Given the description of an element on the screen output the (x, y) to click on. 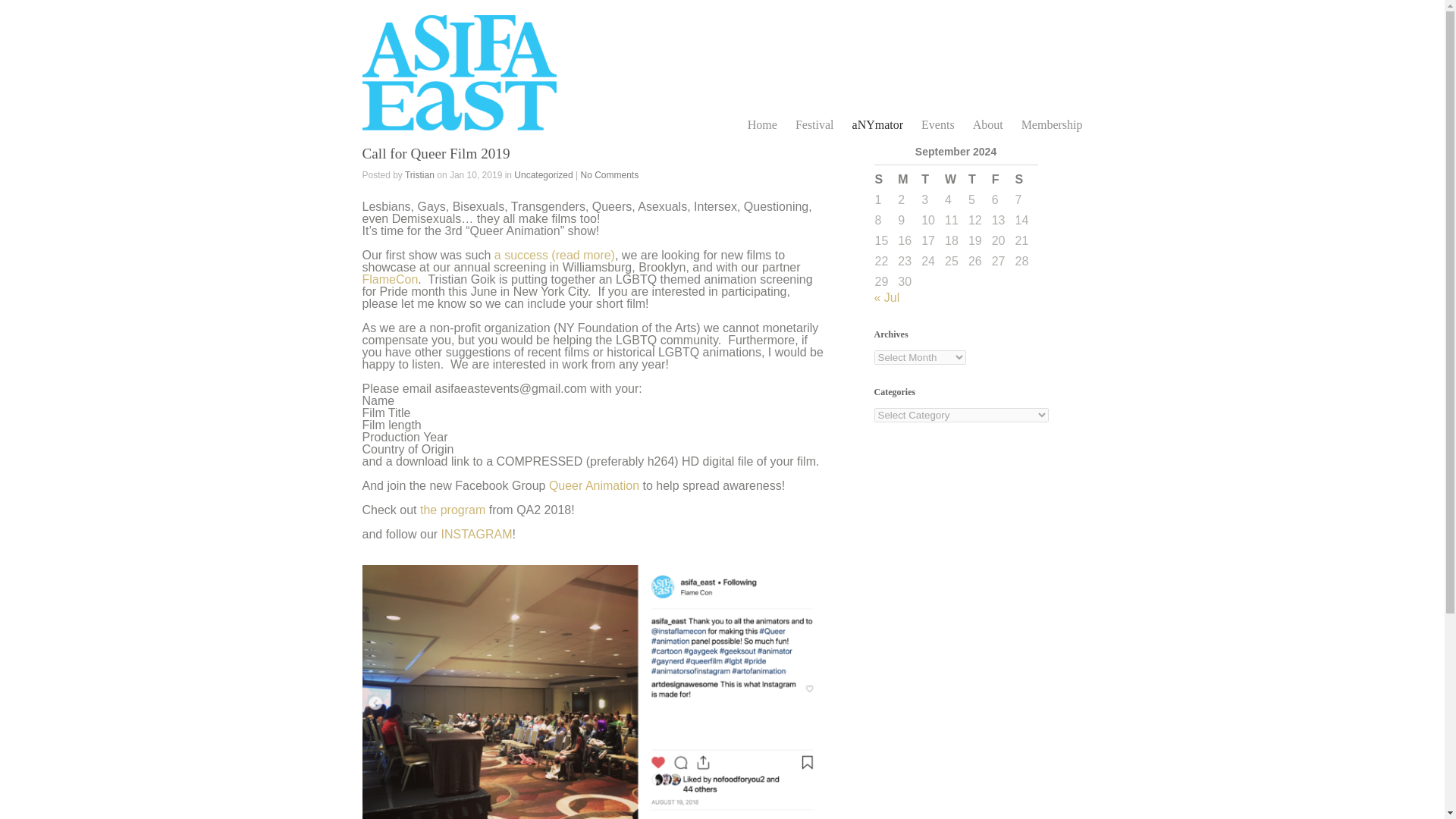
Monday (908, 179)
Tuesday (931, 179)
Wednesday (955, 179)
About (987, 124)
Home (762, 124)
FlameCon (390, 278)
Posts by Tristian (418, 174)
the program (452, 509)
aNYmator (877, 124)
No Comments (609, 174)
